Given the description of an element on the screen output the (x, y) to click on. 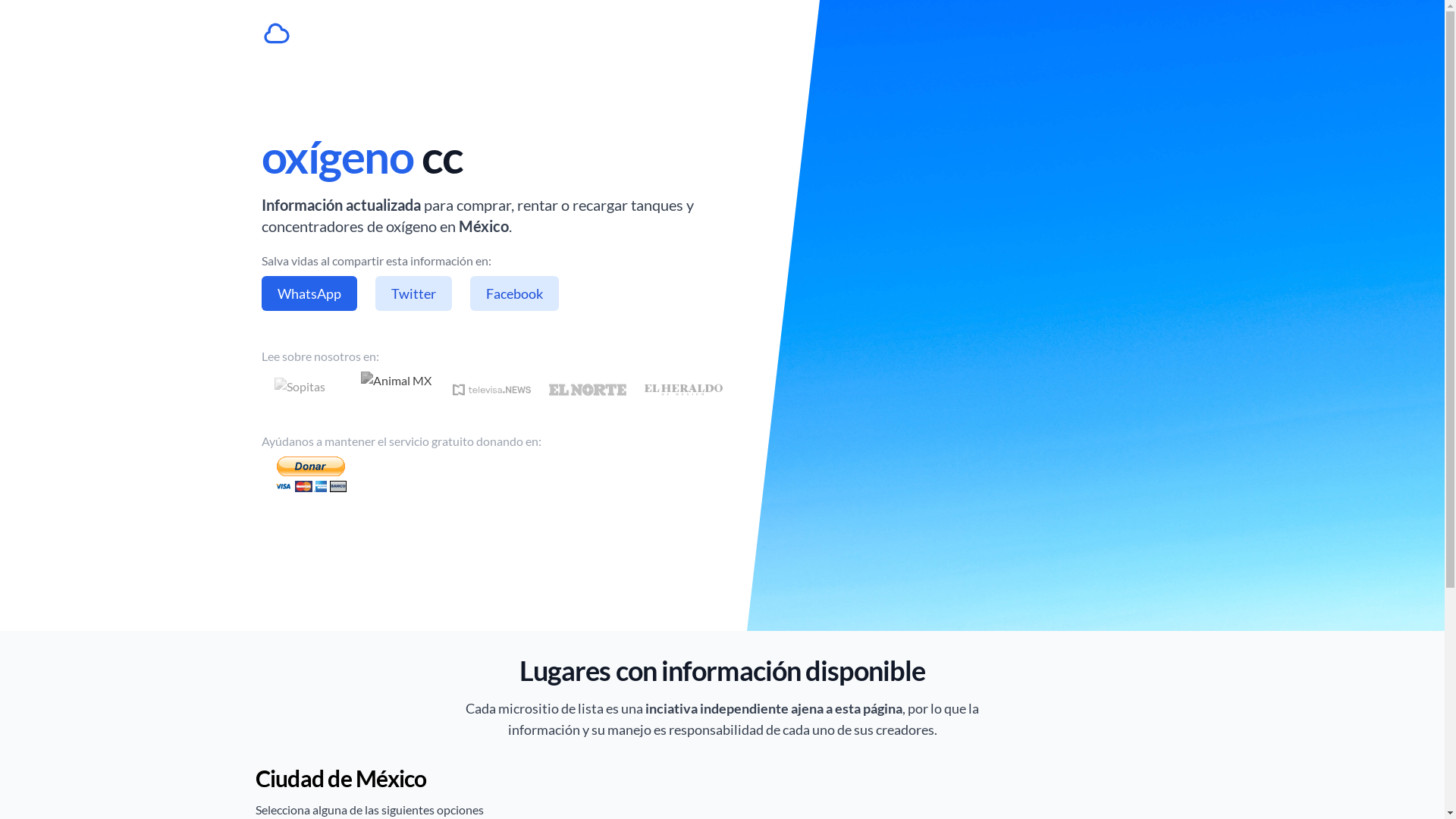
WhatsApp Element type: text (308, 293)
Twitter Element type: text (412, 293)
PayPal - The safer, easier way to pay online! Element type: hover (309, 474)
Facebook Element type: text (514, 293)
